Given the description of an element on the screen output the (x, y) to click on. 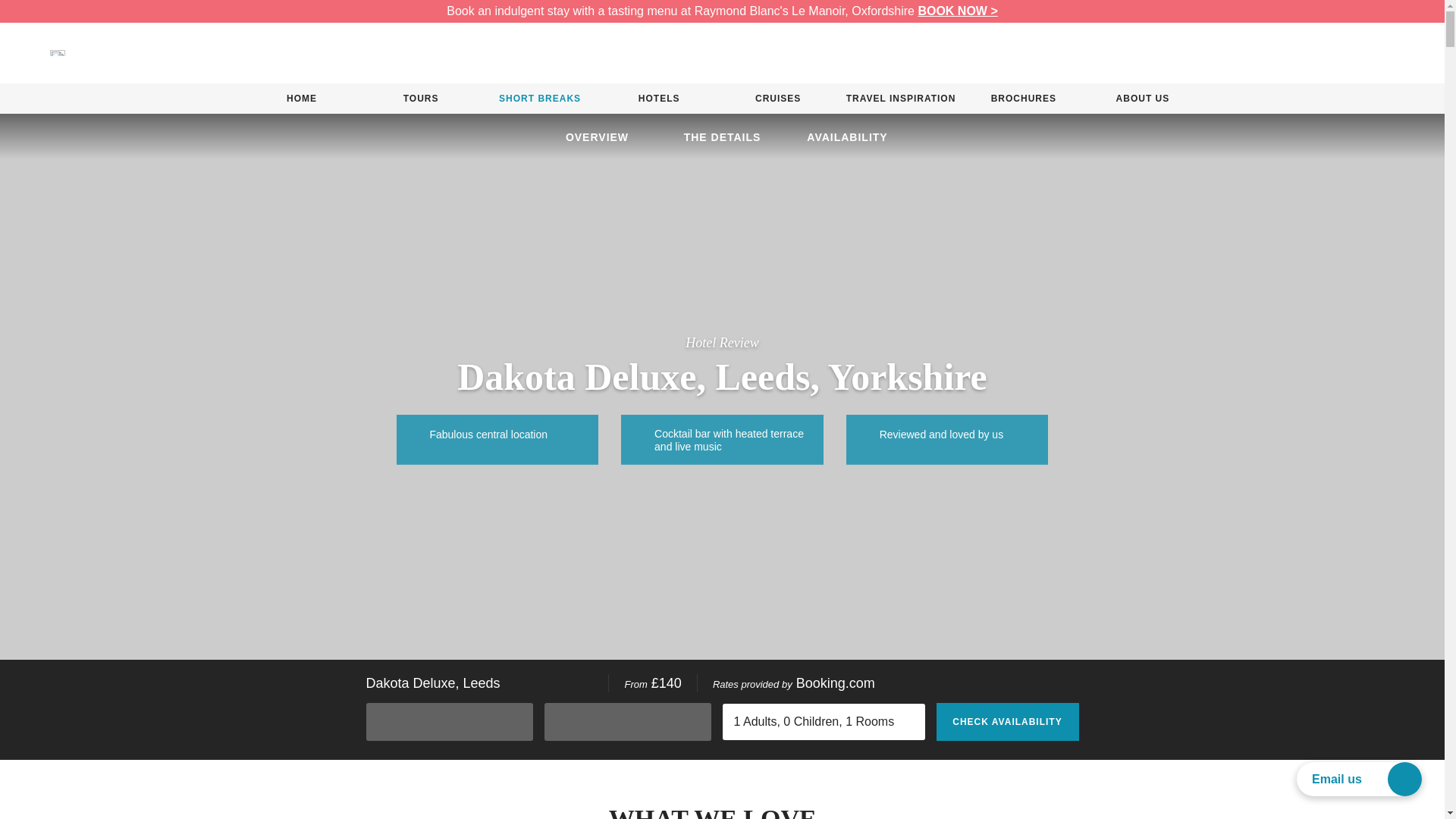
CRUISES (777, 98)
CHECK AVAILABILITY (1007, 721)
SHORT BREAKS (540, 98)
Email us (1359, 779)
OVERVIEW (596, 137)
TOURS (420, 98)
HOME (301, 98)
ABOUT US (1141, 98)
HOTELS (659, 98)
AVAILABILITY (847, 137)
